Given the description of an element on the screen output the (x, y) to click on. 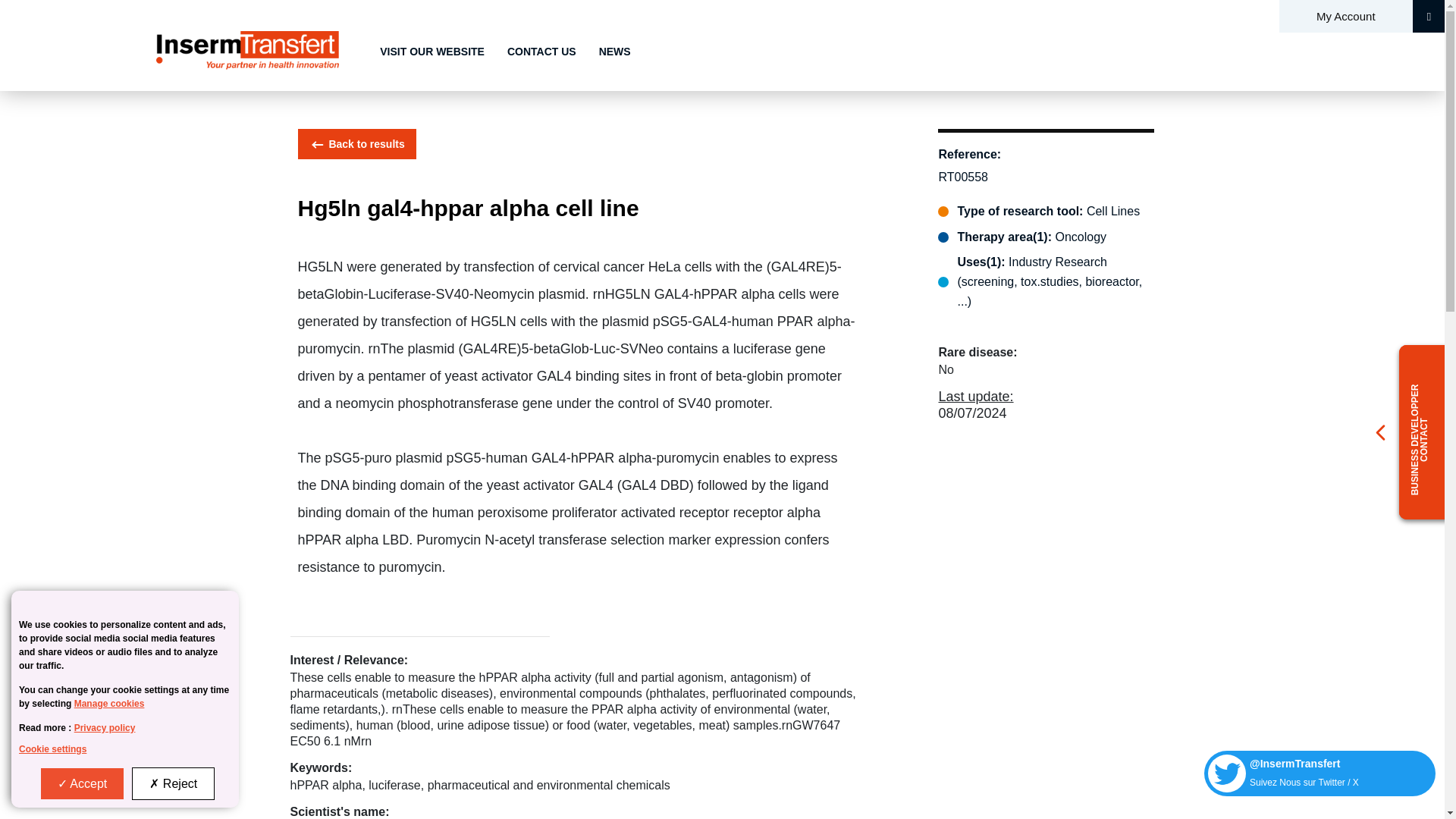
NEWS (614, 51)
Back to results (355, 143)
CONTACT US (541, 51)
 My Account (1344, 15)
My Account (1344, 15)
Type of research tool: Cell Lines (1045, 211)
Home (246, 50)
VISIT OUR WEBSITE (432, 51)
